Given the description of an element on the screen output the (x, y) to click on. 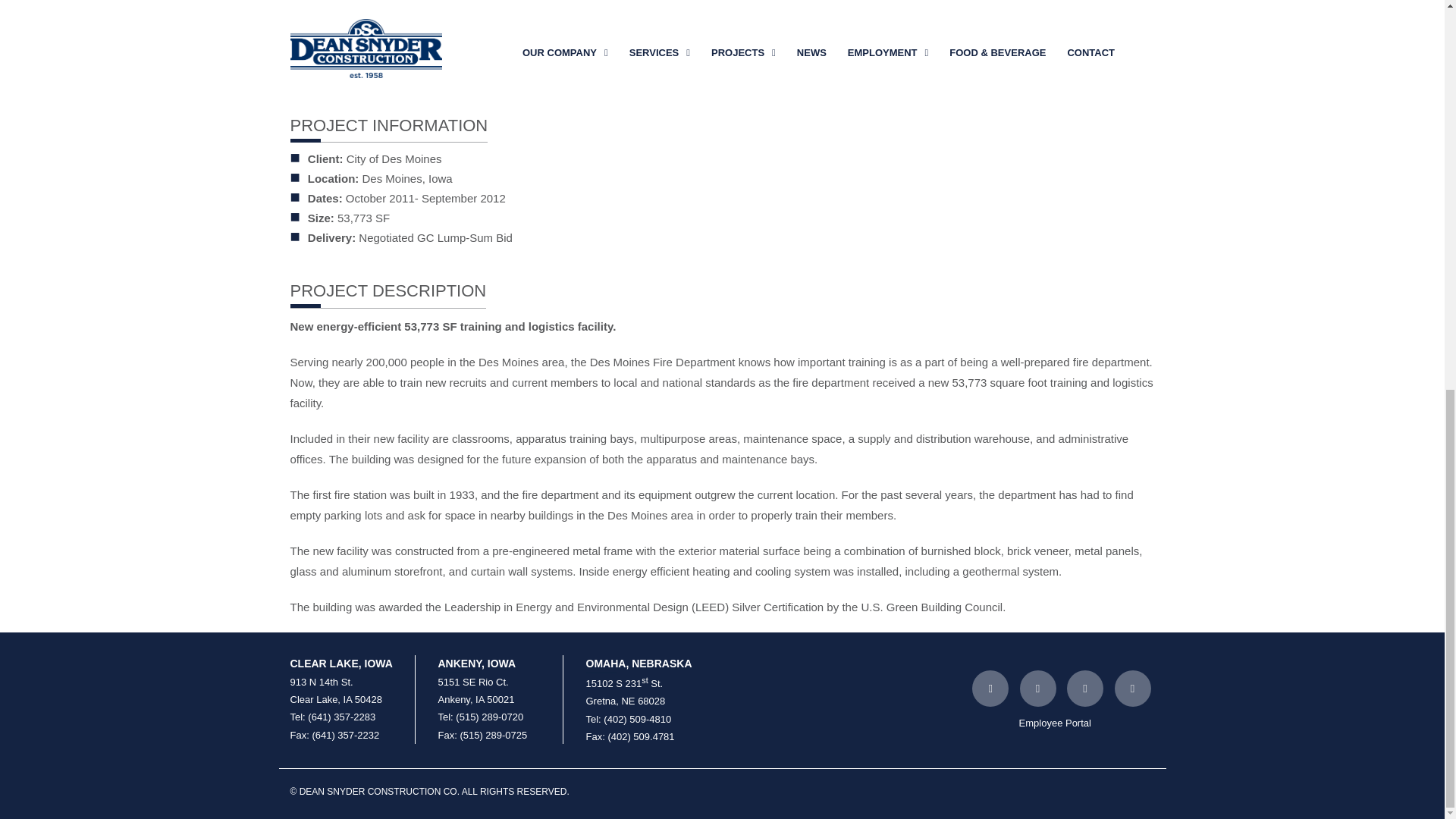
Employee Portal (1054, 722)
